Given the description of an element on the screen output the (x, y) to click on. 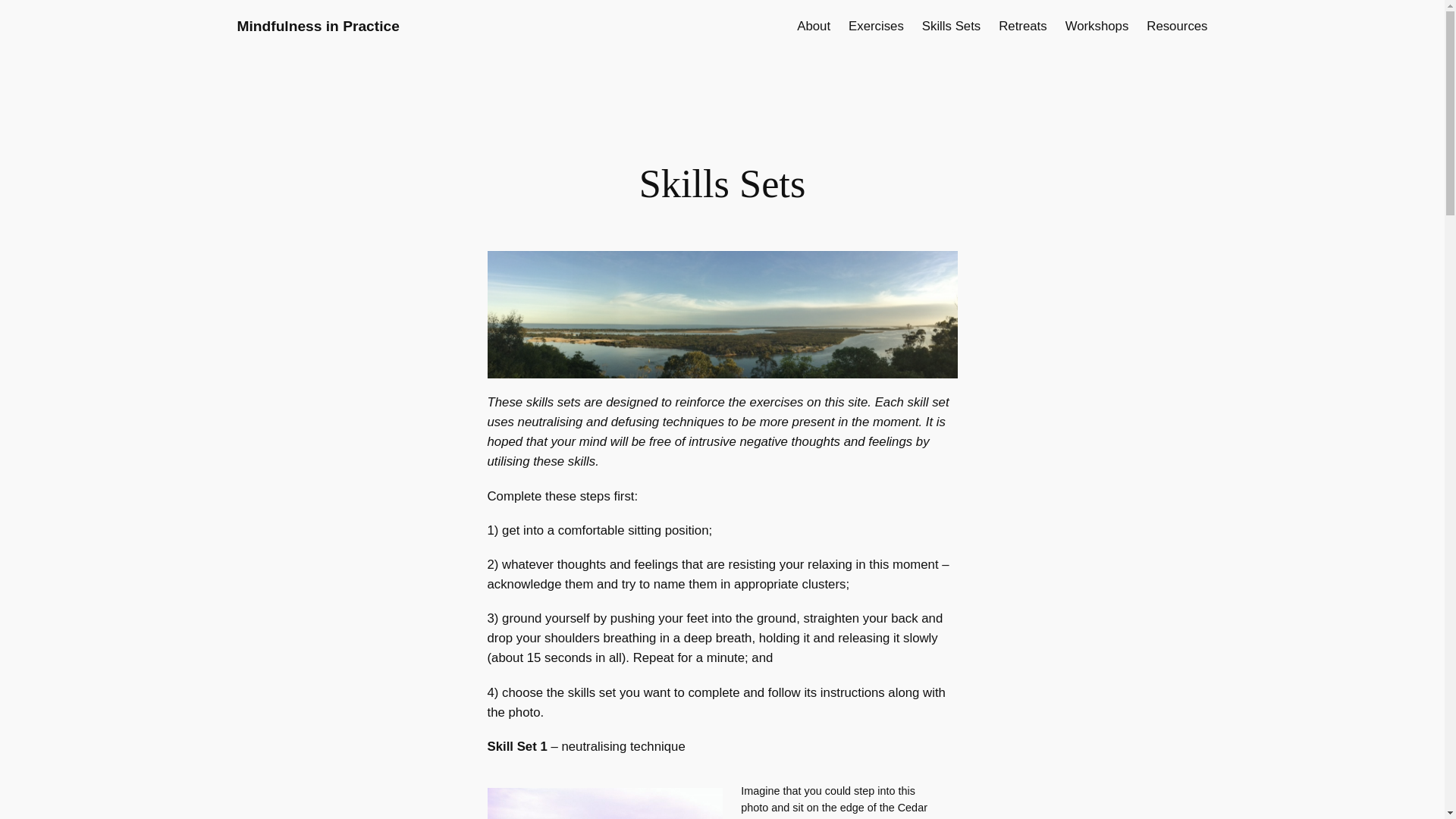
Workshops (1097, 26)
About (812, 26)
Exercises (876, 26)
Mindfulness in Practice (316, 26)
Retreats (1022, 26)
Skills Sets (950, 26)
Resources (1177, 26)
